Given the description of an element on the screen output the (x, y) to click on. 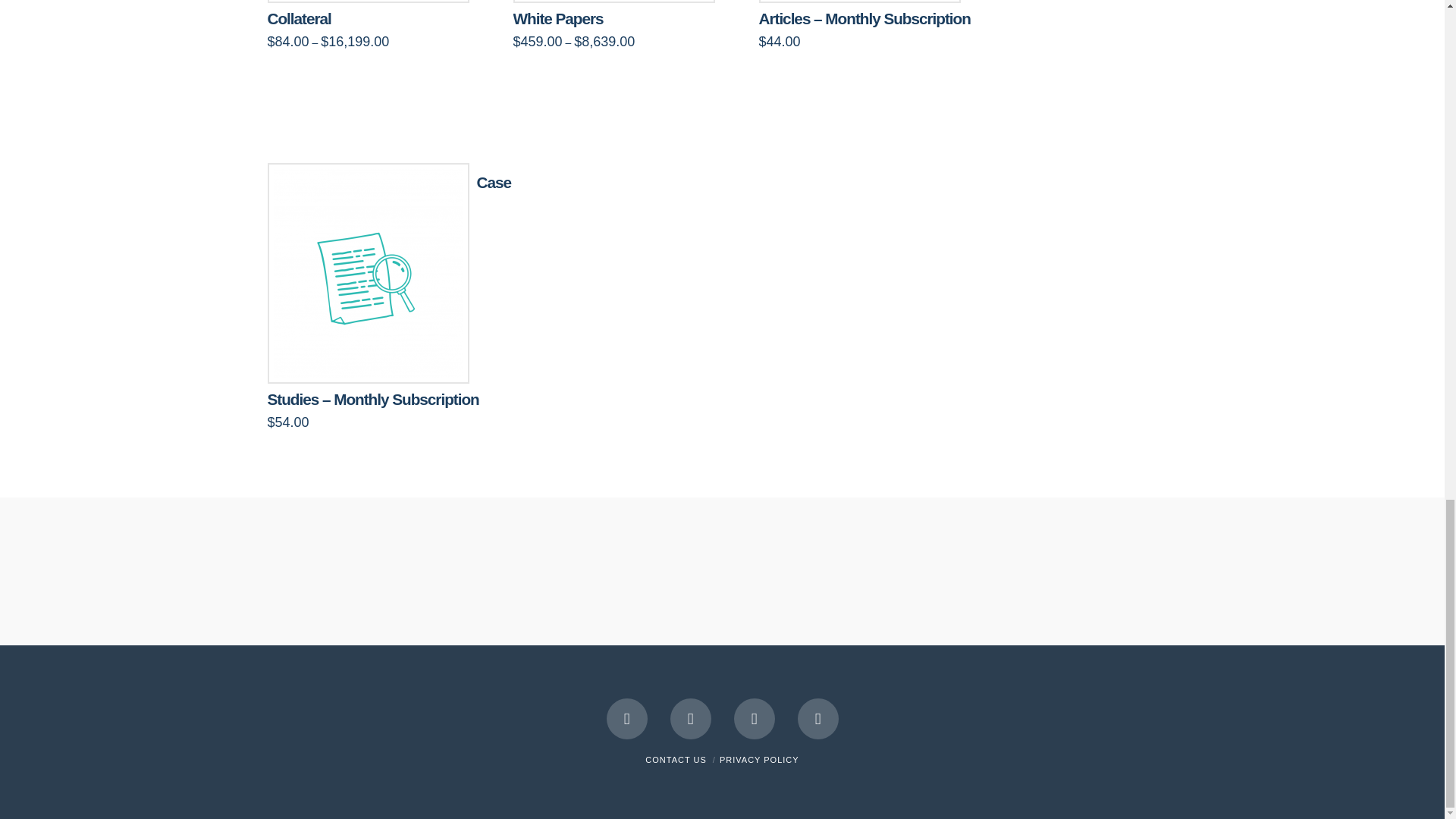
LinkedIn (753, 718)
Facebook (627, 718)
Twitter (690, 718)
RSS (817, 718)
